Given the description of an element on the screen output the (x, y) to click on. 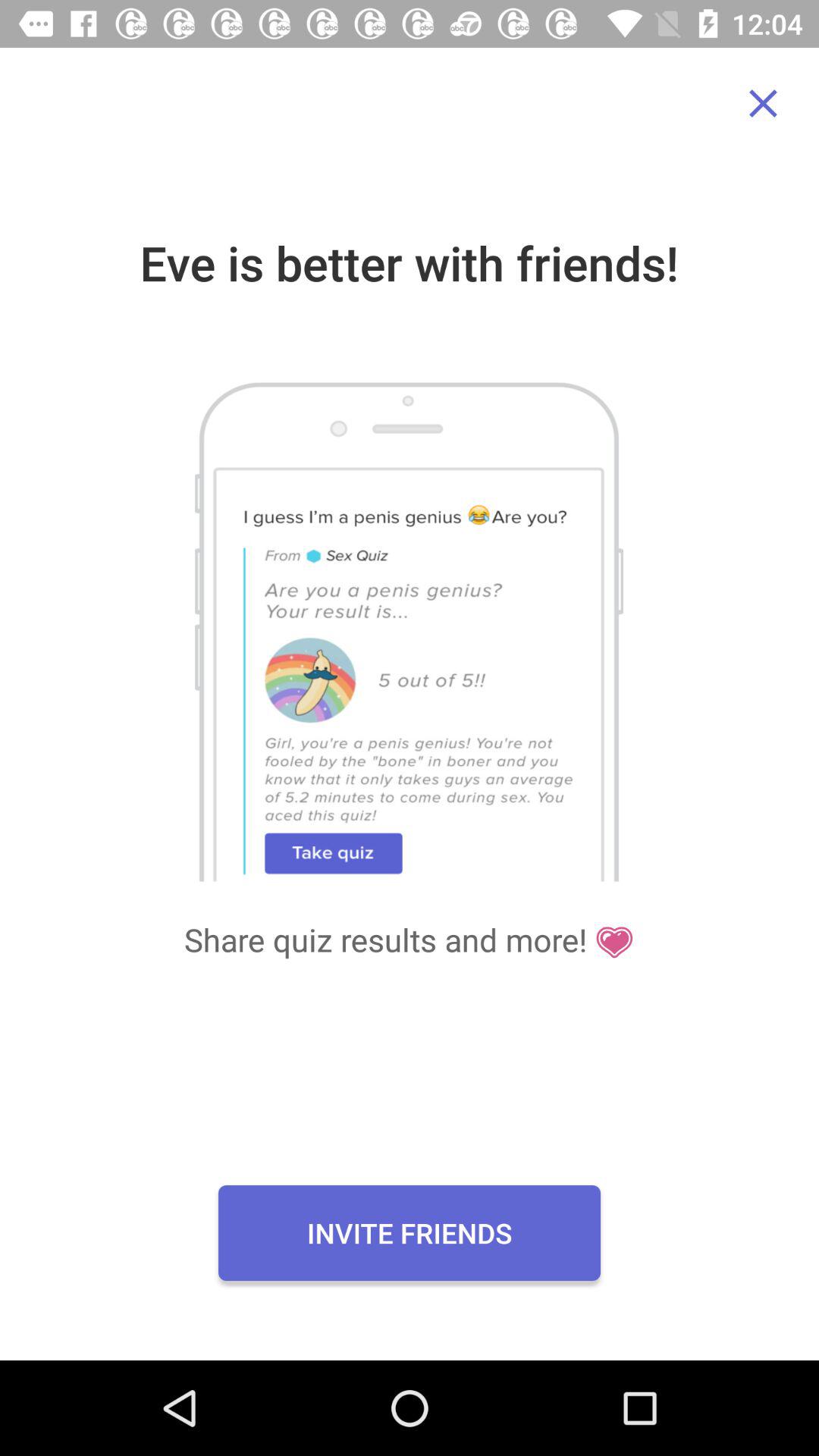
close (763, 103)
